Given the description of an element on the screen output the (x, y) to click on. 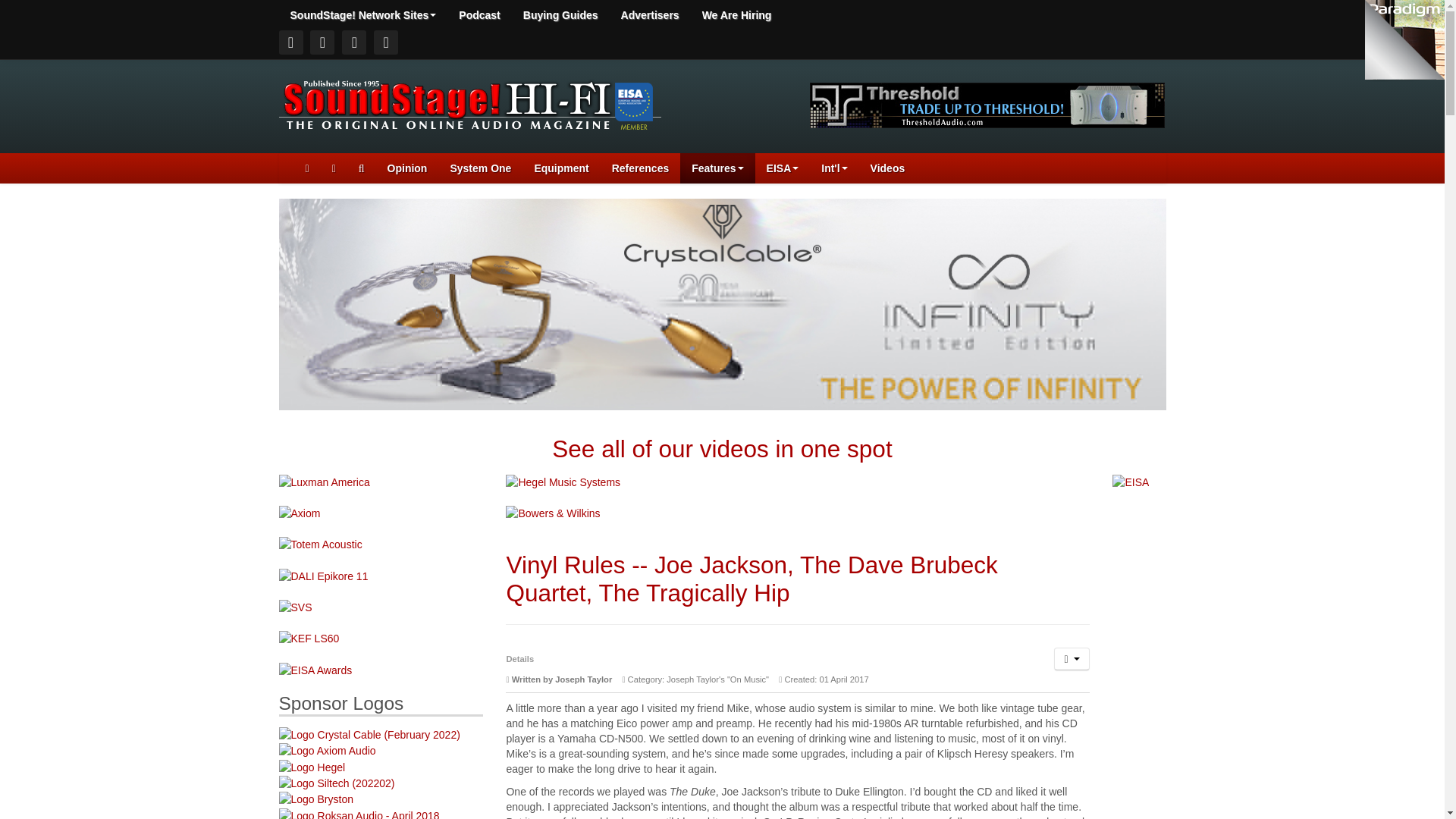
Buying Guides (561, 15)
270W EISA 2024-2025 Awards Coming Soon (315, 668)
Podcast (478, 15)
468x60 Threshold Audio (986, 104)
Logo Hegel (312, 766)
EISA (782, 168)
Logo Axiom Audio (327, 749)
System One (480, 168)
Features (716, 168)
Logo Bryston (316, 798)
